Given the description of an element on the screen output the (x, y) to click on. 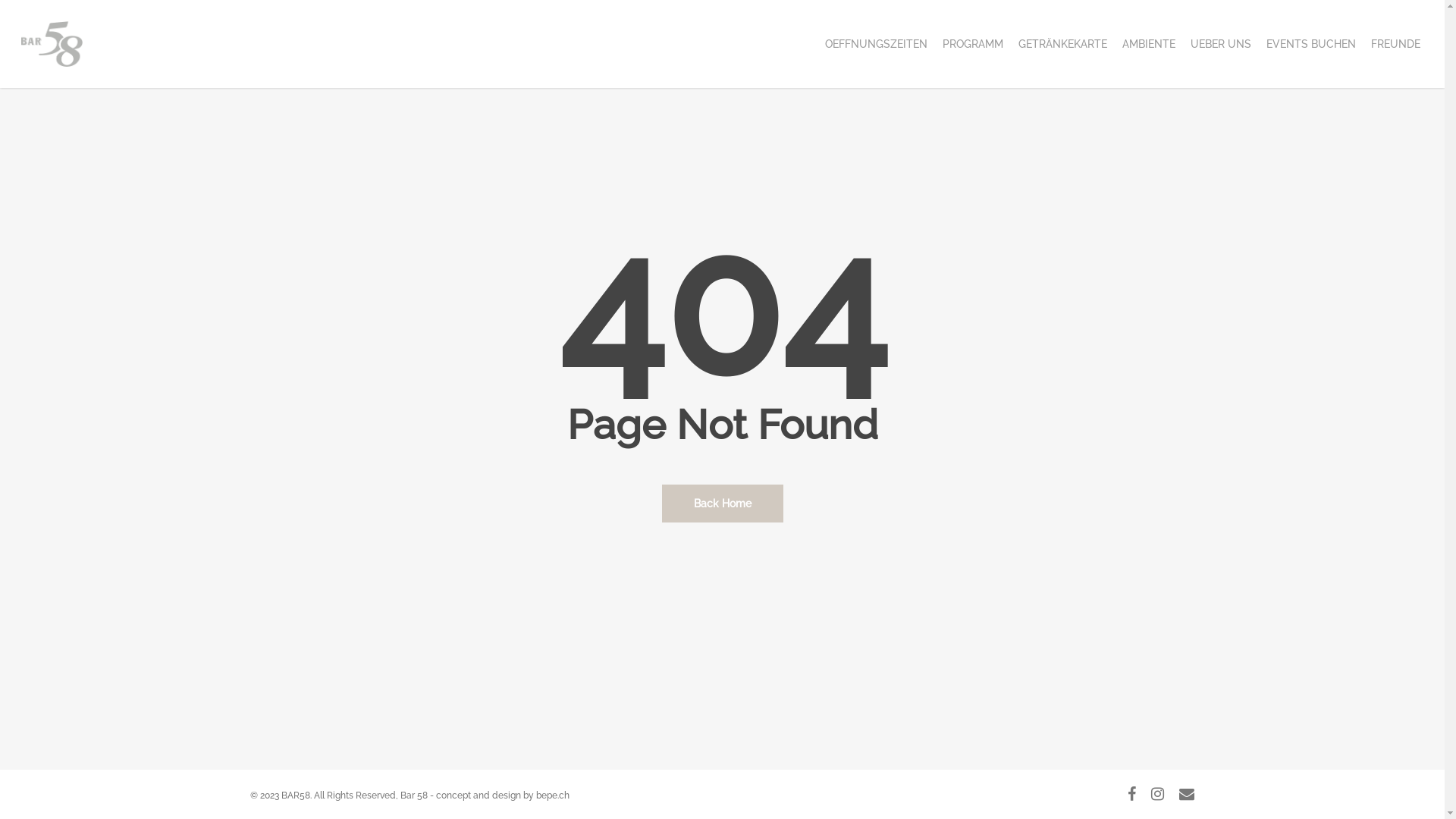
facebook Element type: text (1131, 793)
UEBER UNS Element type: text (1220, 43)
OEFFNUNGSZEITEN Element type: text (876, 43)
email Element type: text (1186, 793)
Back Home Element type: text (721, 502)
EVENTS BUCHEN Element type: text (1310, 43)
PROGRAMM Element type: text (972, 43)
AMBIENTE Element type: text (1148, 43)
instagram Element type: text (1157, 793)
FREUNDE Element type: text (1395, 43)
